Given the description of an element on the screen output the (x, y) to click on. 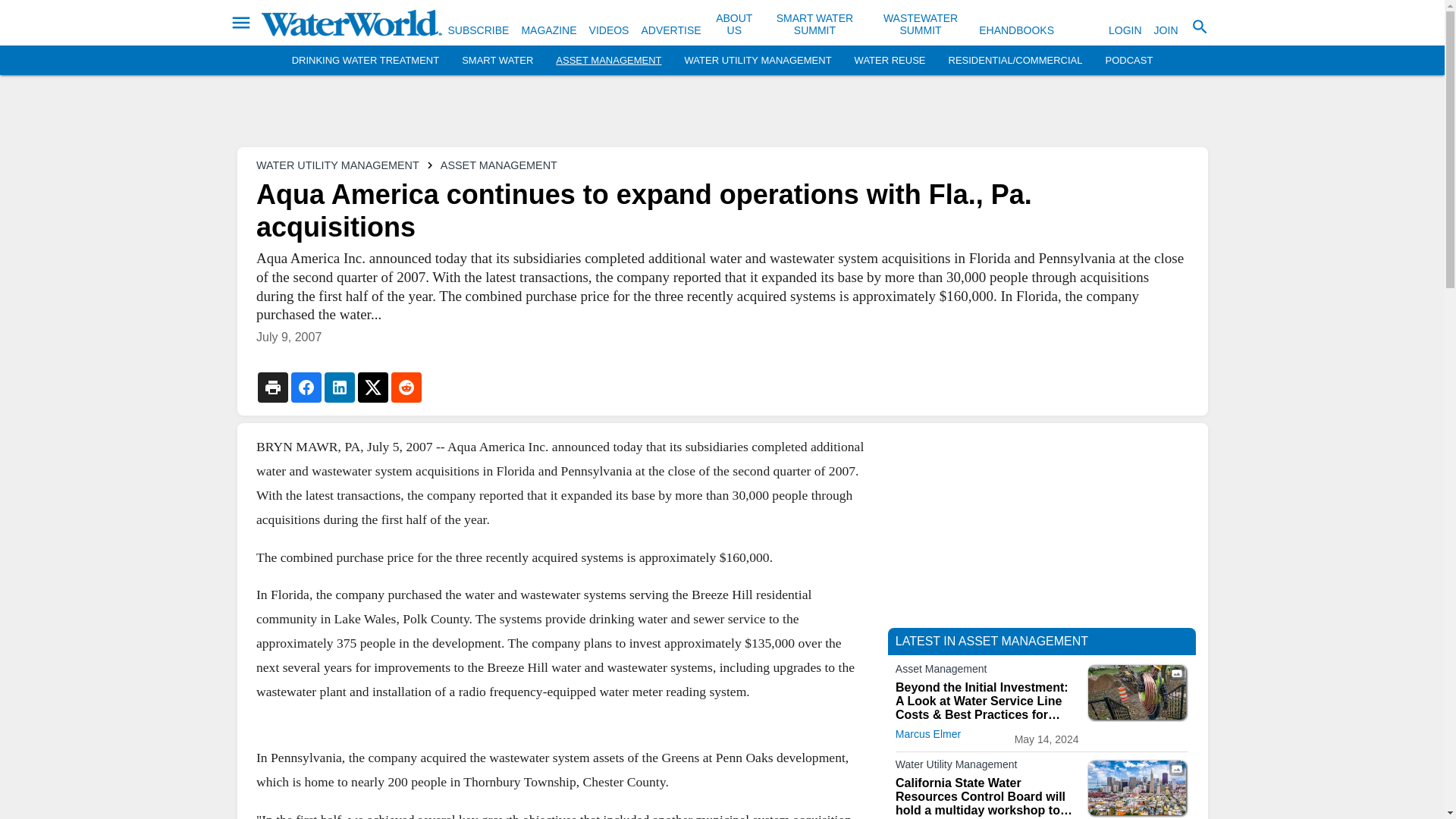
WASTEWATER SUMMIT (920, 24)
JOIN (1165, 30)
SMART WATER SUMMIT (814, 24)
DRINKING WATER TREATMENT (365, 60)
LOGIN (1124, 30)
VIDEOS (608, 30)
MAGAZINE (548, 30)
ASSET MANAGEMENT (608, 60)
EHANDBOOKS (1016, 30)
WATER REUSE (890, 60)
